Given the description of an element on the screen output the (x, y) to click on. 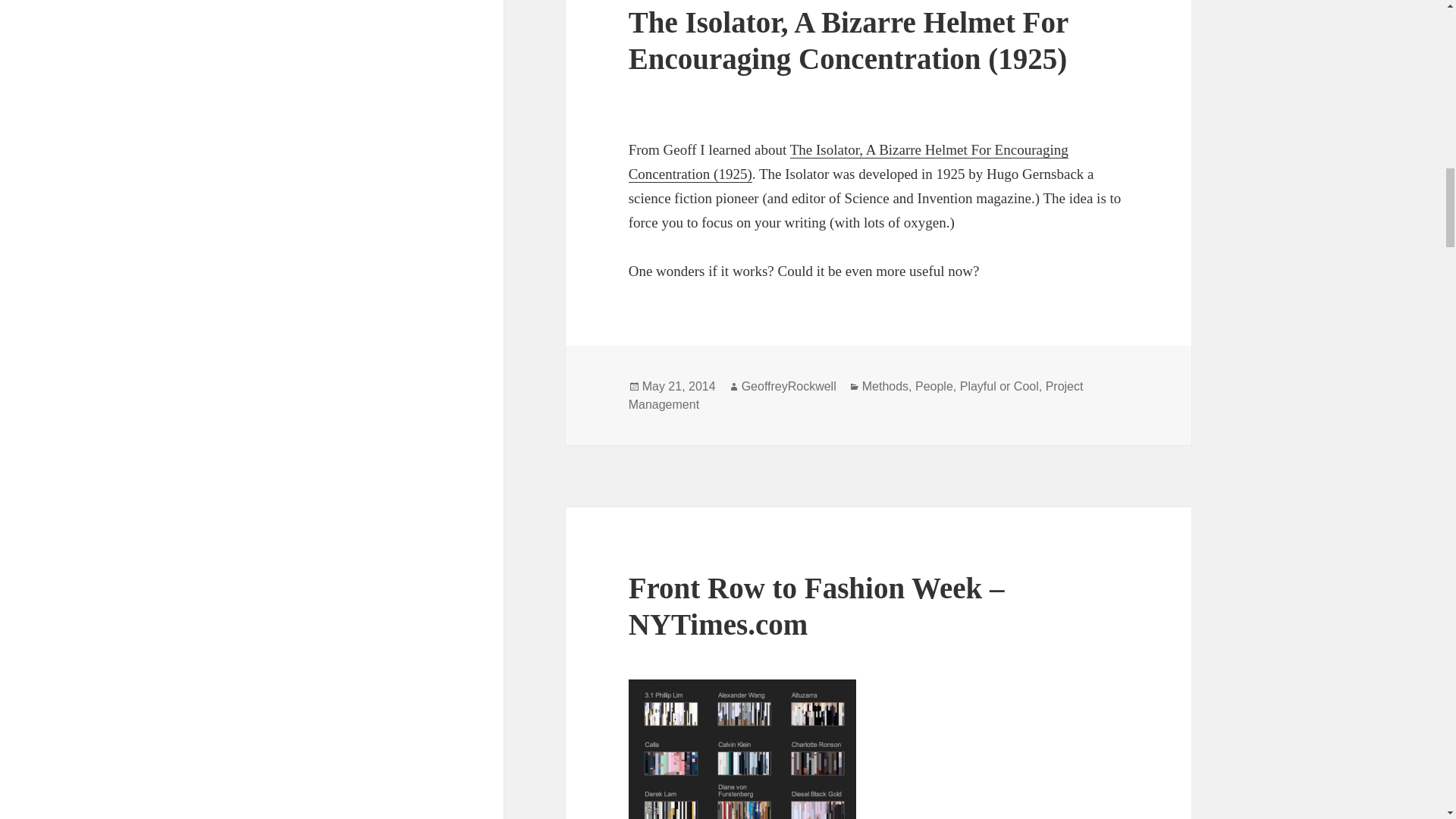
People (934, 386)
Playful or Cool (999, 386)
Project Management (855, 395)
GeoffreyRockwell (788, 386)
May 21, 2014 (679, 386)
Fashion (742, 749)
Methods (884, 386)
